Given the description of an element on the screen output the (x, y) to click on. 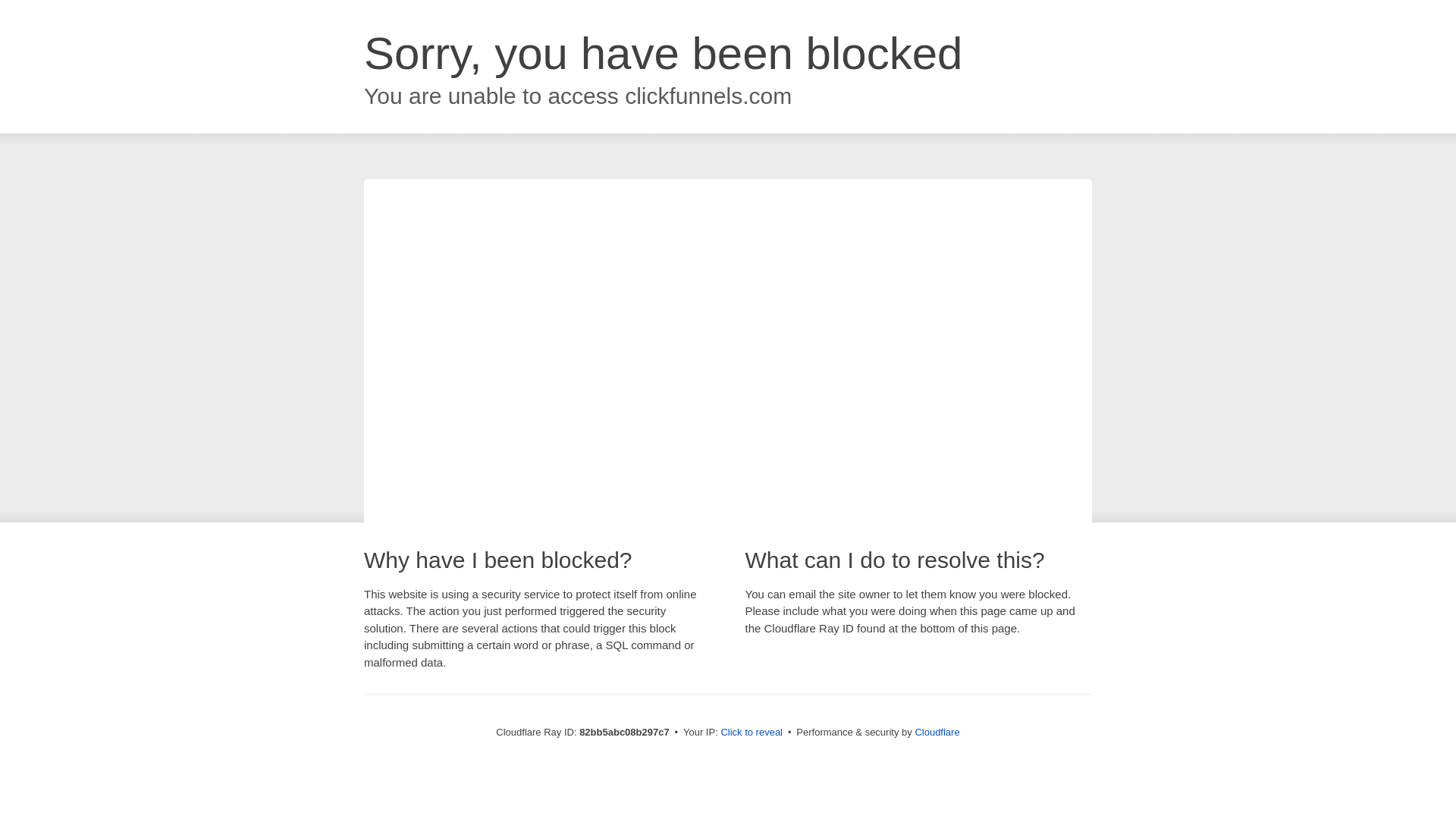
Cloudflare Element type: text (936, 731)
Click to reveal Element type: text (751, 732)
